Given the description of an element on the screen output the (x, y) to click on. 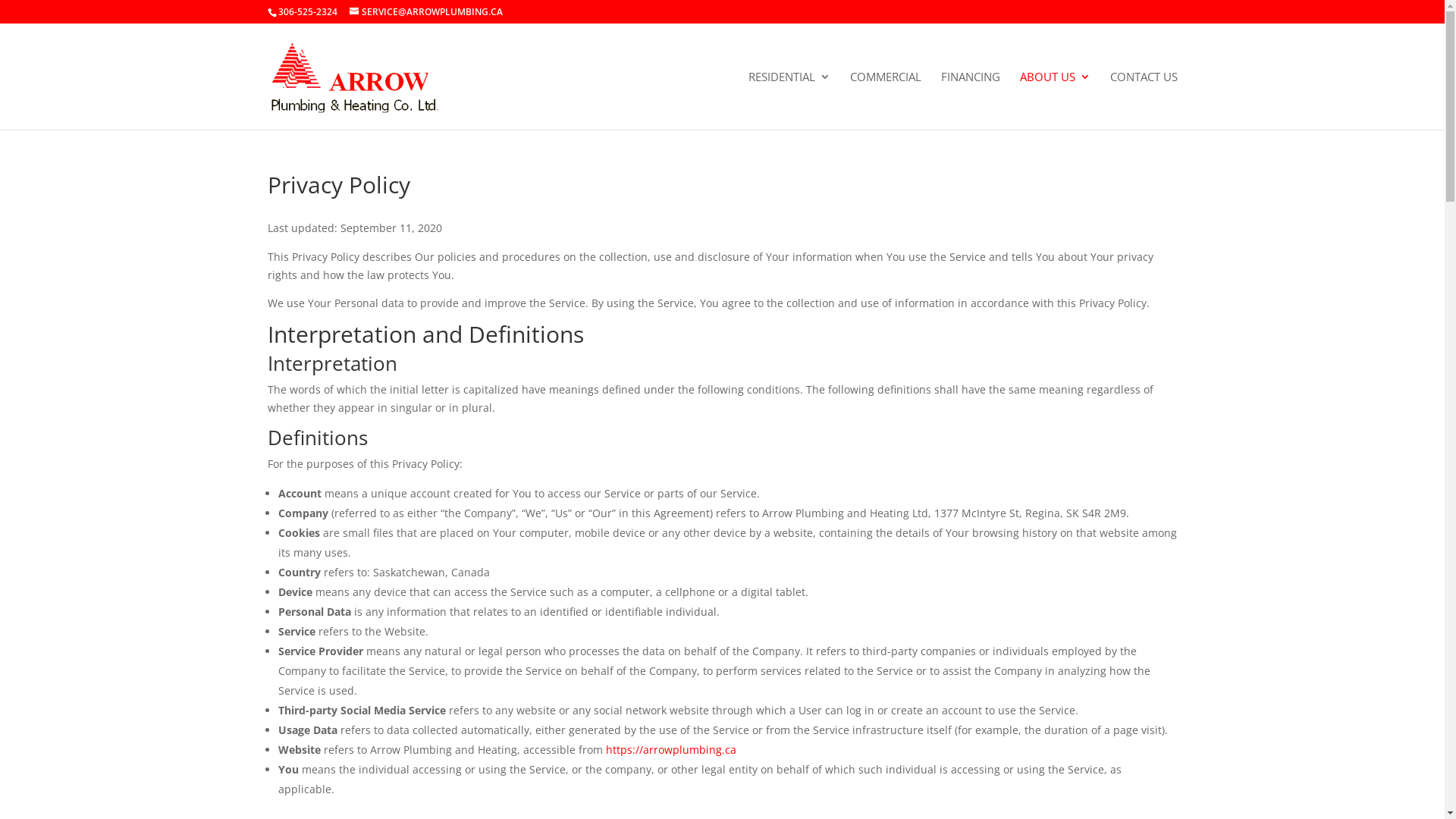
COMMERCIAL Element type: text (884, 100)
FINANCING Element type: text (969, 100)
https://arrowplumbing.ca Element type: text (670, 749)
RESIDENTIAL Element type: text (788, 100)
CONTACT US Element type: text (1143, 100)
ABOUT US Element type: text (1054, 100)
SERVICE@ARROWPLUMBING.CA Element type: text (425, 11)
